Given the description of an element on the screen output the (x, y) to click on. 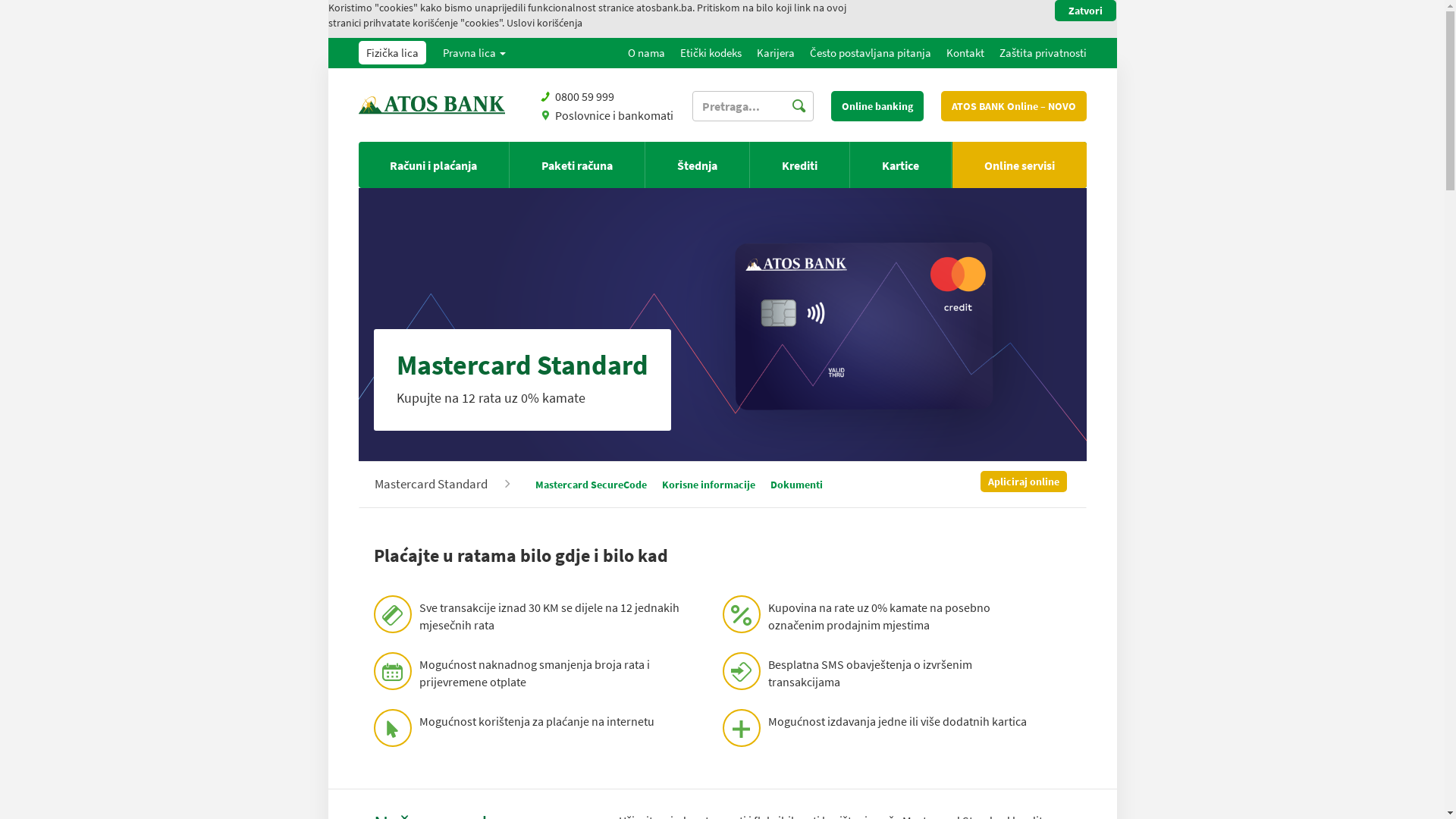
Zatvori Element type: text (1085, 10)
Mastercard SecureCode Element type: text (590, 484)
Korisne informacije Element type: text (707, 484)
Poslovnice i bankomati Element type: text (614, 114)
Online servisi Element type: text (1019, 164)
Pravna lica Element type: text (473, 52)
Apliciraj online Element type: text (1022, 481)
Mastercard Standard Element type: text (443, 480)
O nama Element type: text (646, 52)
Online banking Element type: text (877, 106)
Karijera Element type: text (775, 52)
Dokumenti Element type: text (796, 484)
Kartice Element type: text (900, 164)
Kontakt Element type: text (964, 52)
Krediti Element type: text (799, 164)
